Given the description of an element on the screen output the (x, y) to click on. 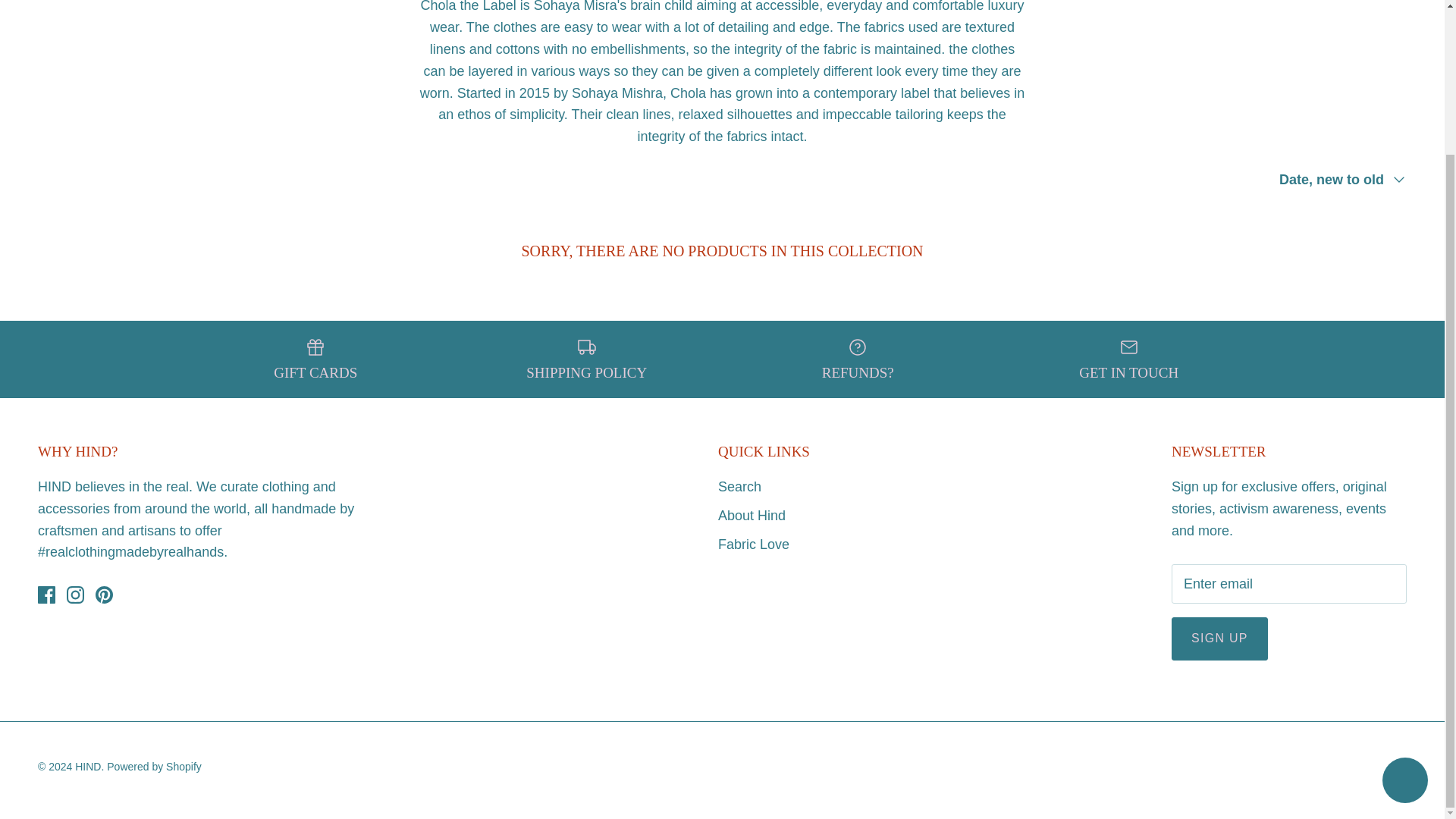
Instagram (75, 594)
Pinterest (104, 594)
Shopify online store chat (1404, 602)
Facebook (46, 594)
